Given the description of an element on the screen output the (x, y) to click on. 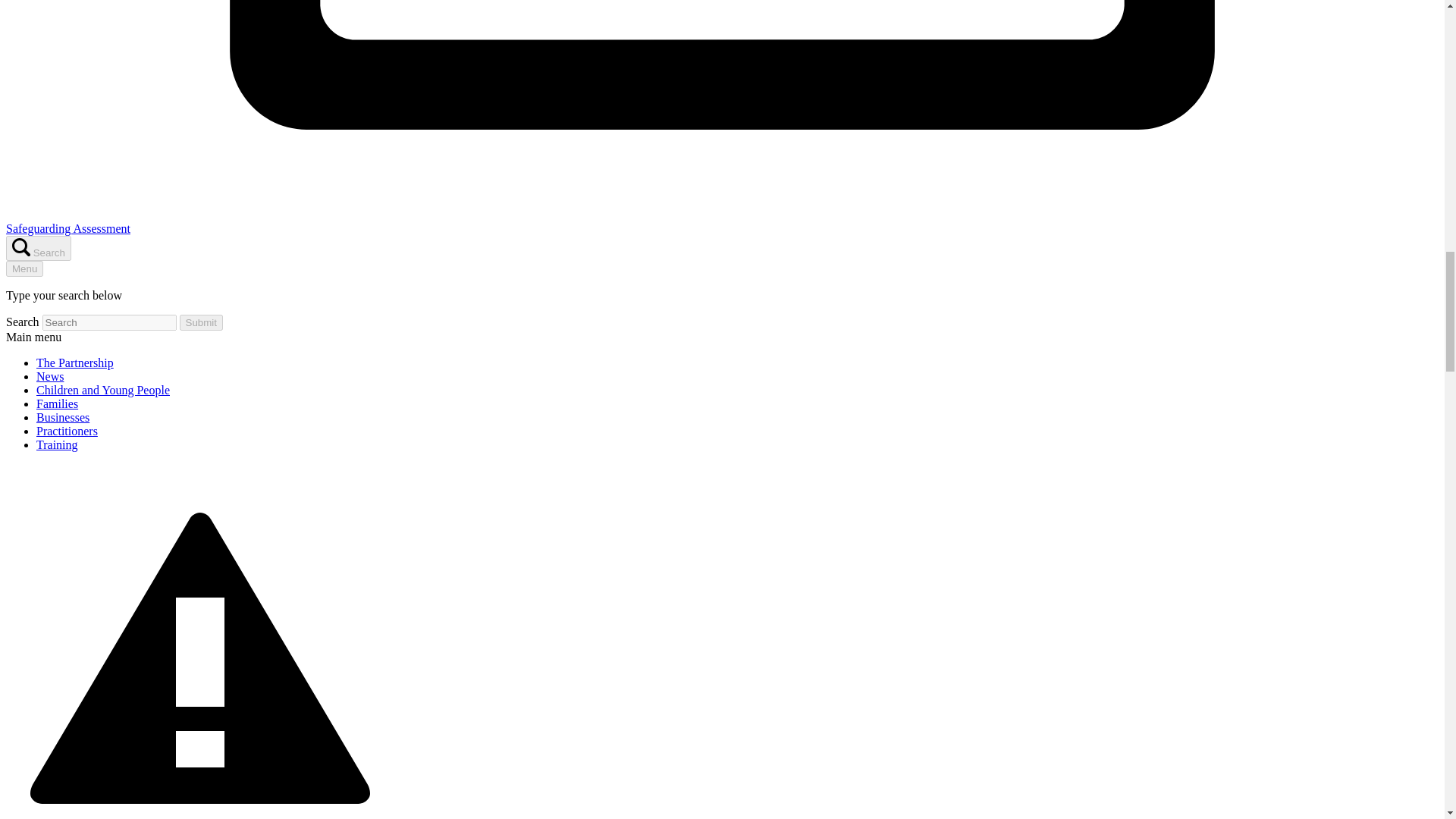
Submit (200, 322)
Submit (200, 322)
Practitioners (66, 431)
Families (57, 403)
Search (38, 248)
Businesses (62, 417)
News (50, 376)
Menu (24, 268)
Children and Young People (103, 390)
The Partnership (74, 362)
Training (57, 444)
